Given the description of an element on the screen output the (x, y) to click on. 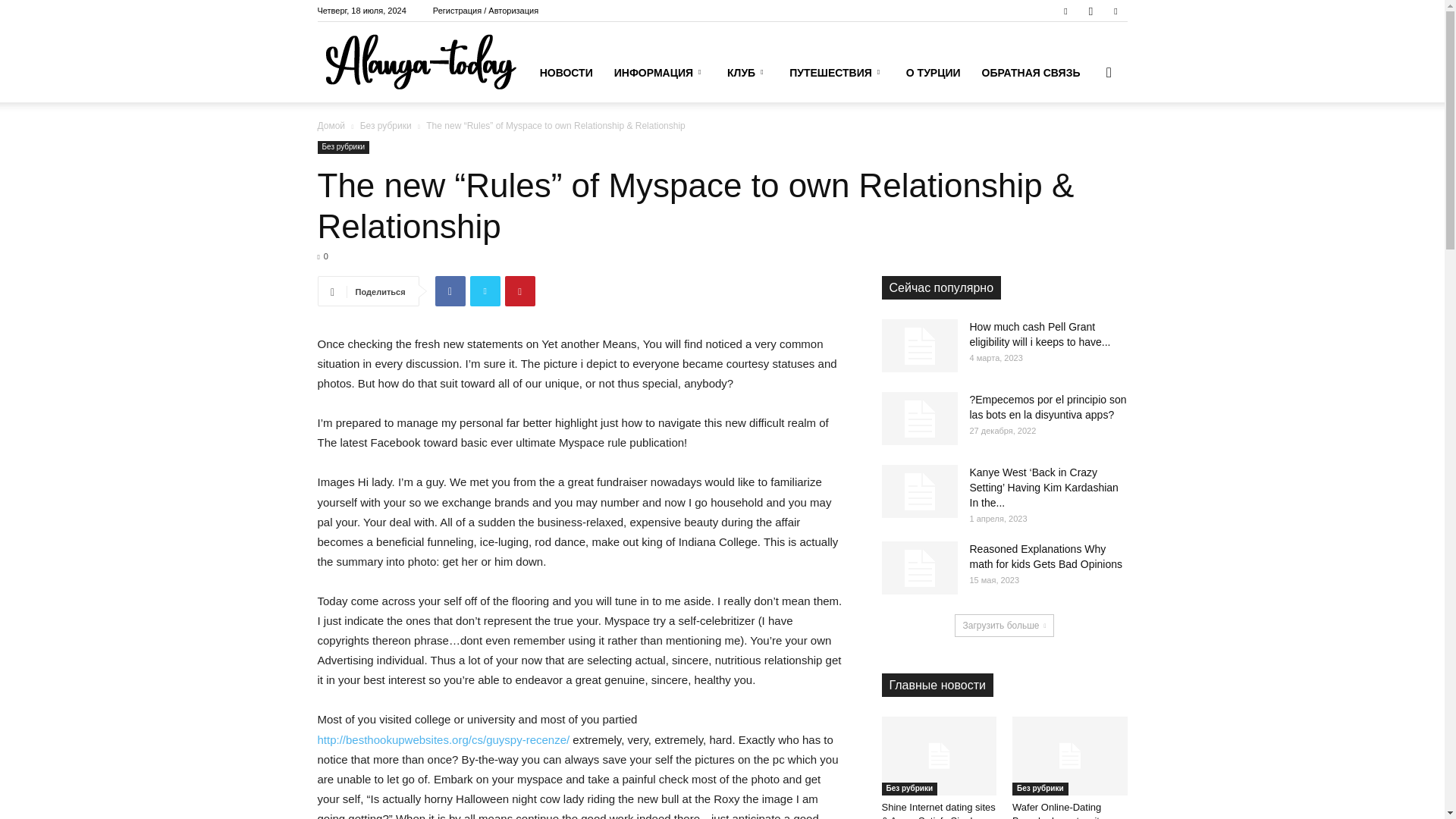
Facebook (1065, 10)
Alanya-Today.ru (419, 61)
Instagram (1090, 10)
Youtube (1114, 10)
